Given the description of an element on the screen output the (x, y) to click on. 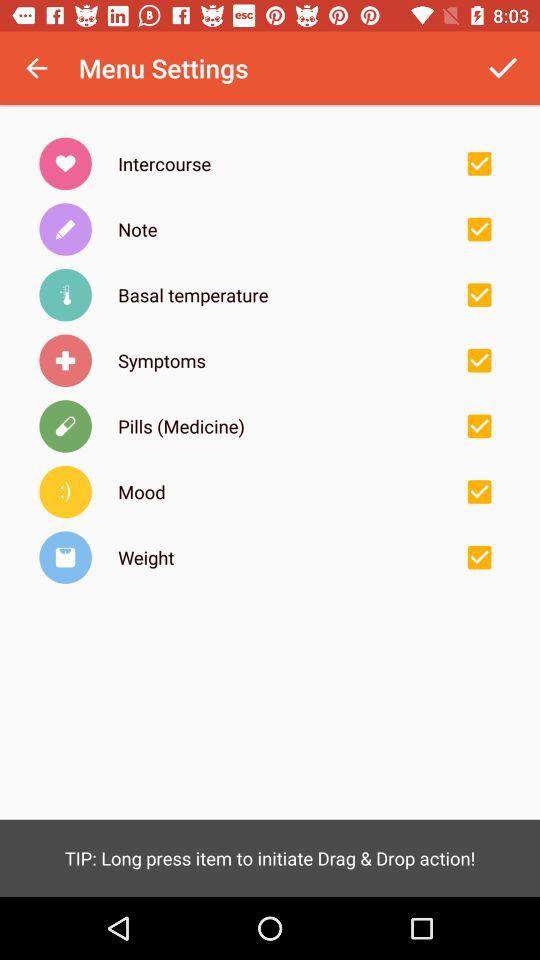
check intercourse box (479, 163)
